Given the description of an element on the screen output the (x, y) to click on. 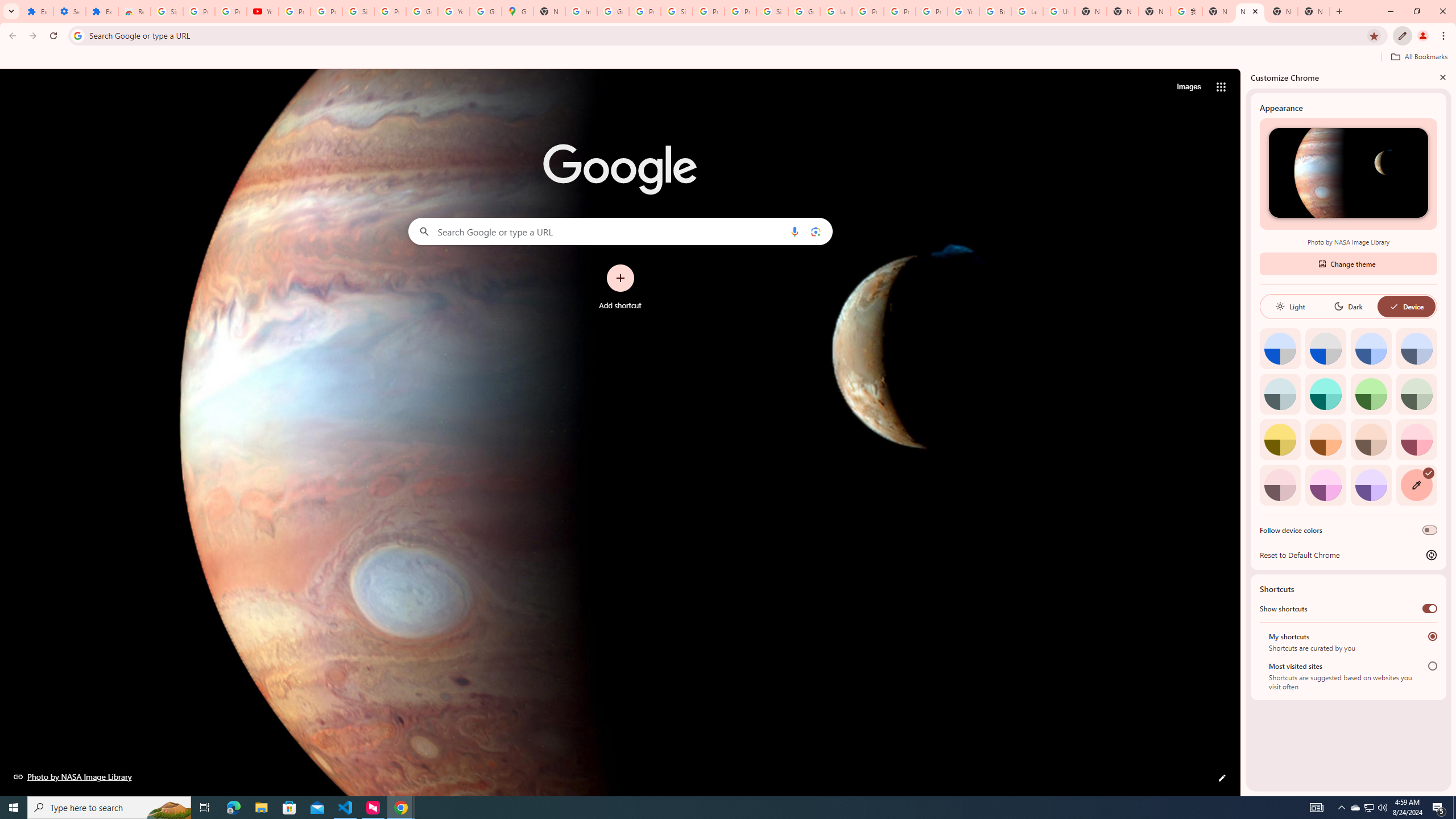
AutomationID: svg (1428, 472)
Photo by NASA Image Library (72, 776)
New Tab (1313, 11)
Green (1371, 393)
Address and search bar (725, 35)
Privacy Help Center - Policies Help (899, 11)
New Tab (1123, 11)
Most visited sites (1432, 665)
Change theme (1348, 263)
